Given the description of an element on the screen output the (x, y) to click on. 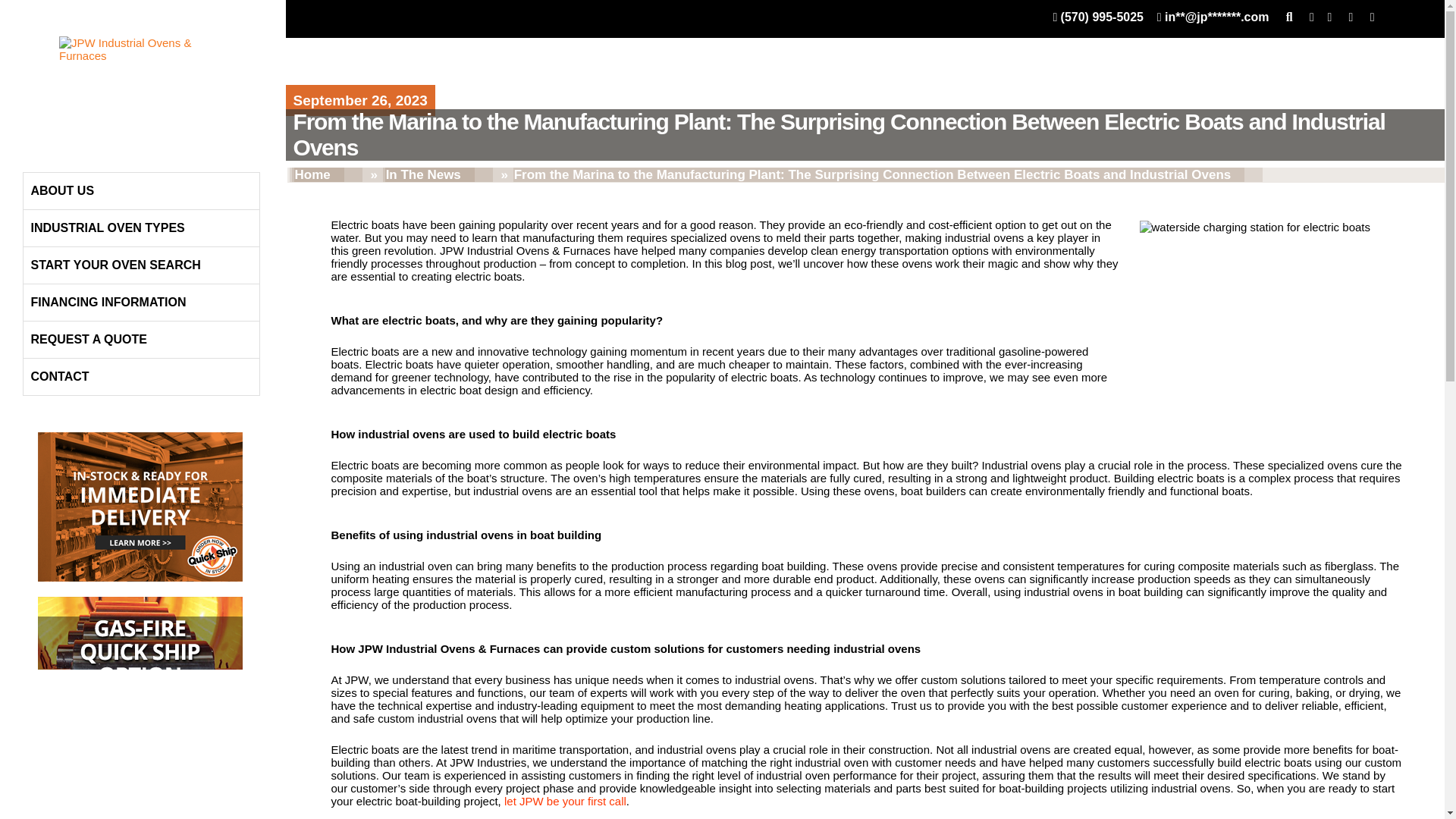
In The News (429, 174)
Home (318, 174)
Skip to content (60, 150)
JPW Industrial Ovens and Furnaces (140, 81)
let JPW be your first call (564, 800)
REQUEST A QUOTE (141, 339)
Skip to content (60, 150)
FINANCING INFORMATION (141, 302)
ABOUT US (141, 190)
